Given the description of an element on the screen output the (x, y) to click on. 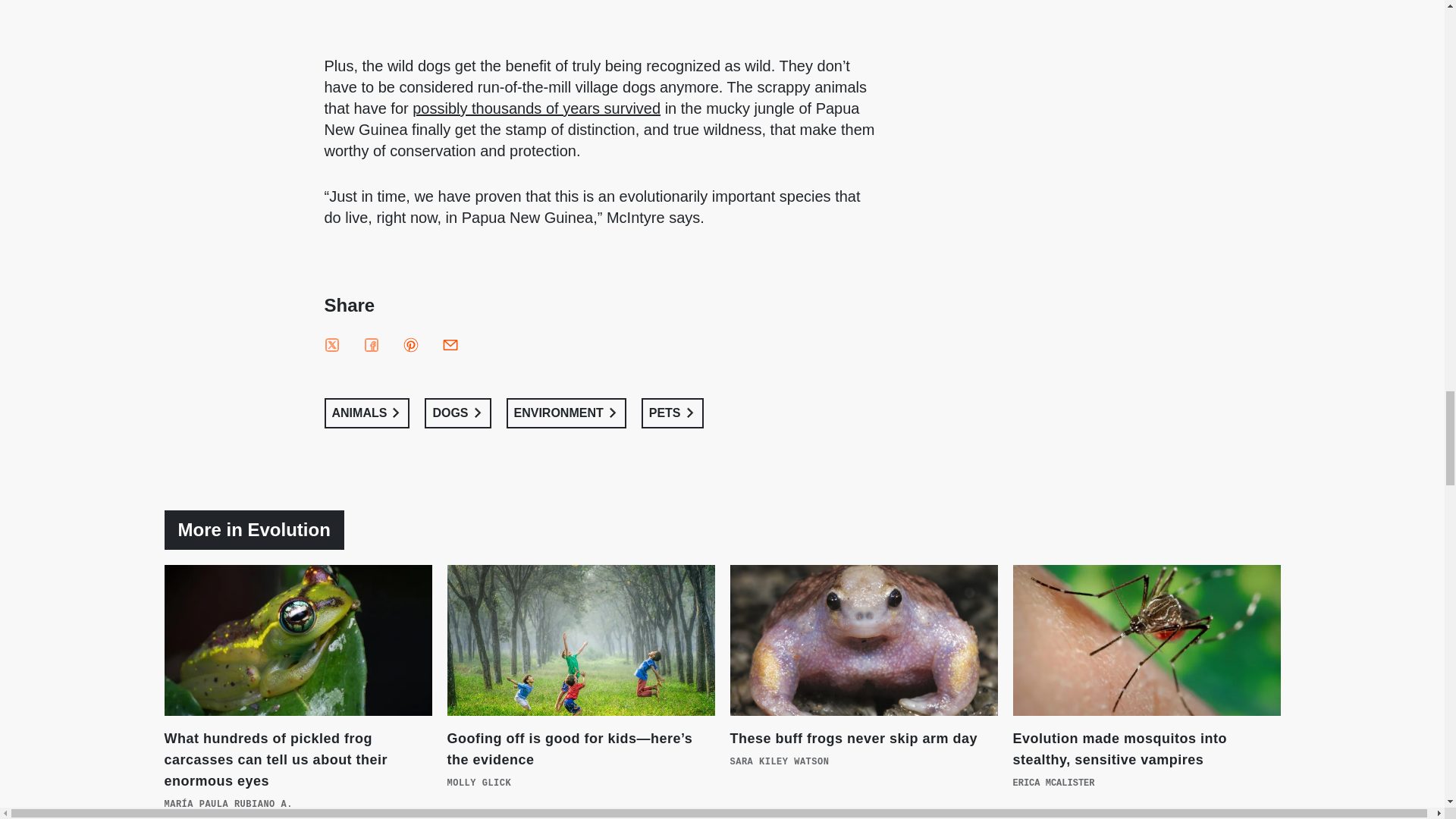
3rd party ad content (600, 10)
